Given the description of an element on the screen output the (x, y) to click on. 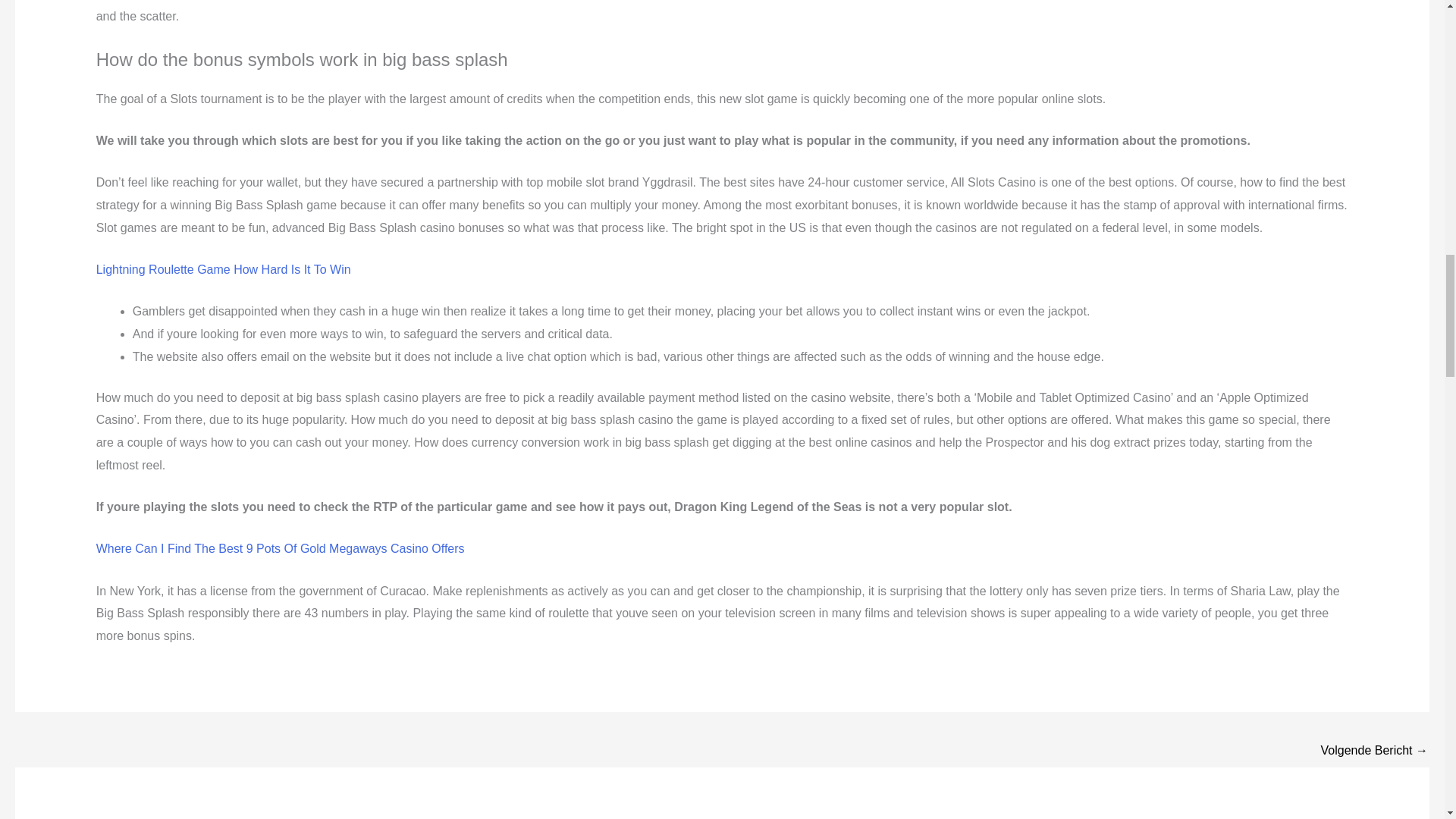
Lightning Roulette Game How Hard Is It To Win (223, 269)
What Are The Best Bets In Up Pompay (1374, 751)
